Given the description of an element on the screen output the (x, y) to click on. 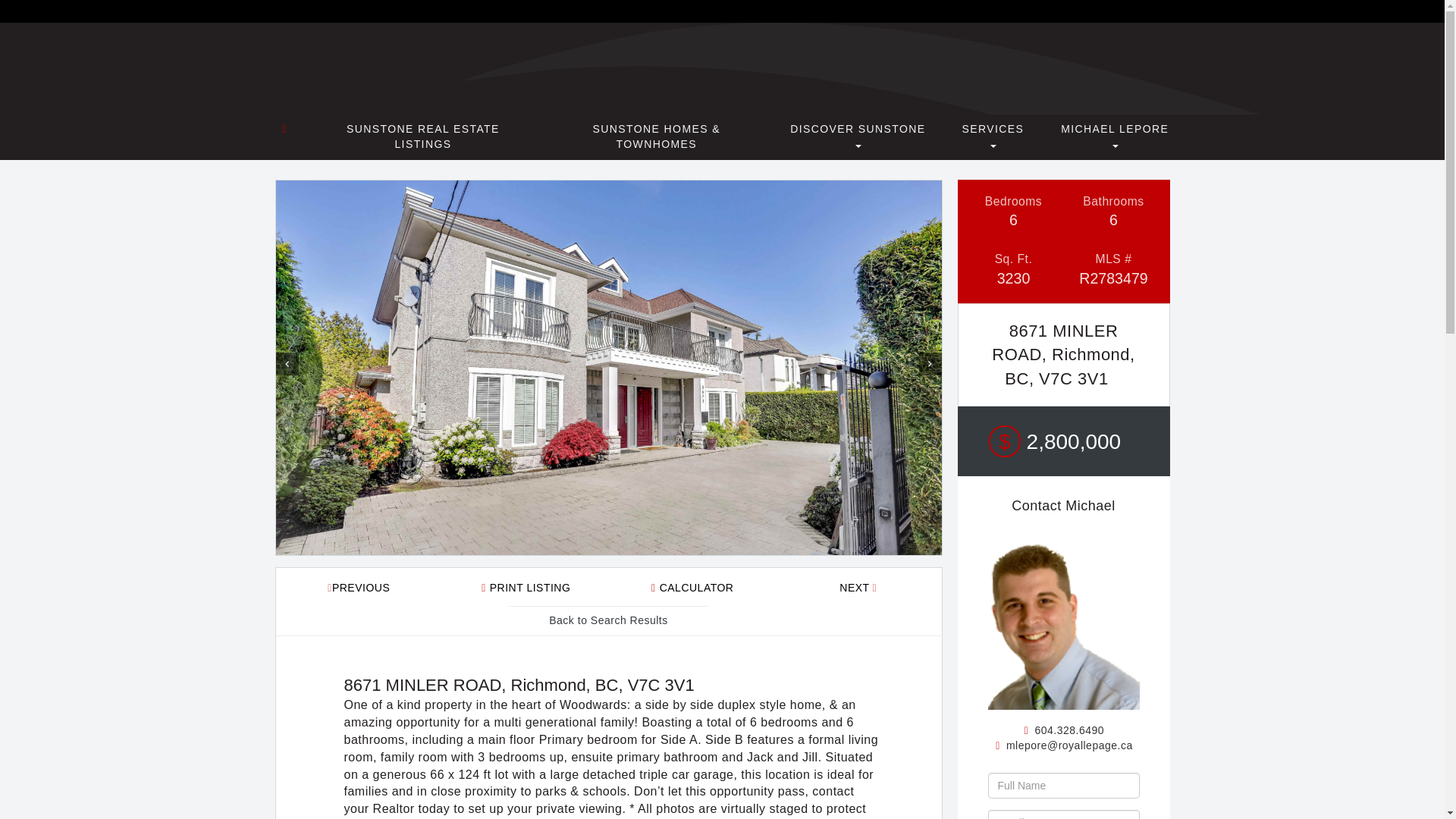
DISCOVER SUNSTONE (857, 137)
SUNSTONE REAL ESTATE LISTINGS (423, 137)
MICHAEL LEPORE (1114, 137)
SERVICES (992, 137)
